Given the description of an element on the screen output the (x, y) to click on. 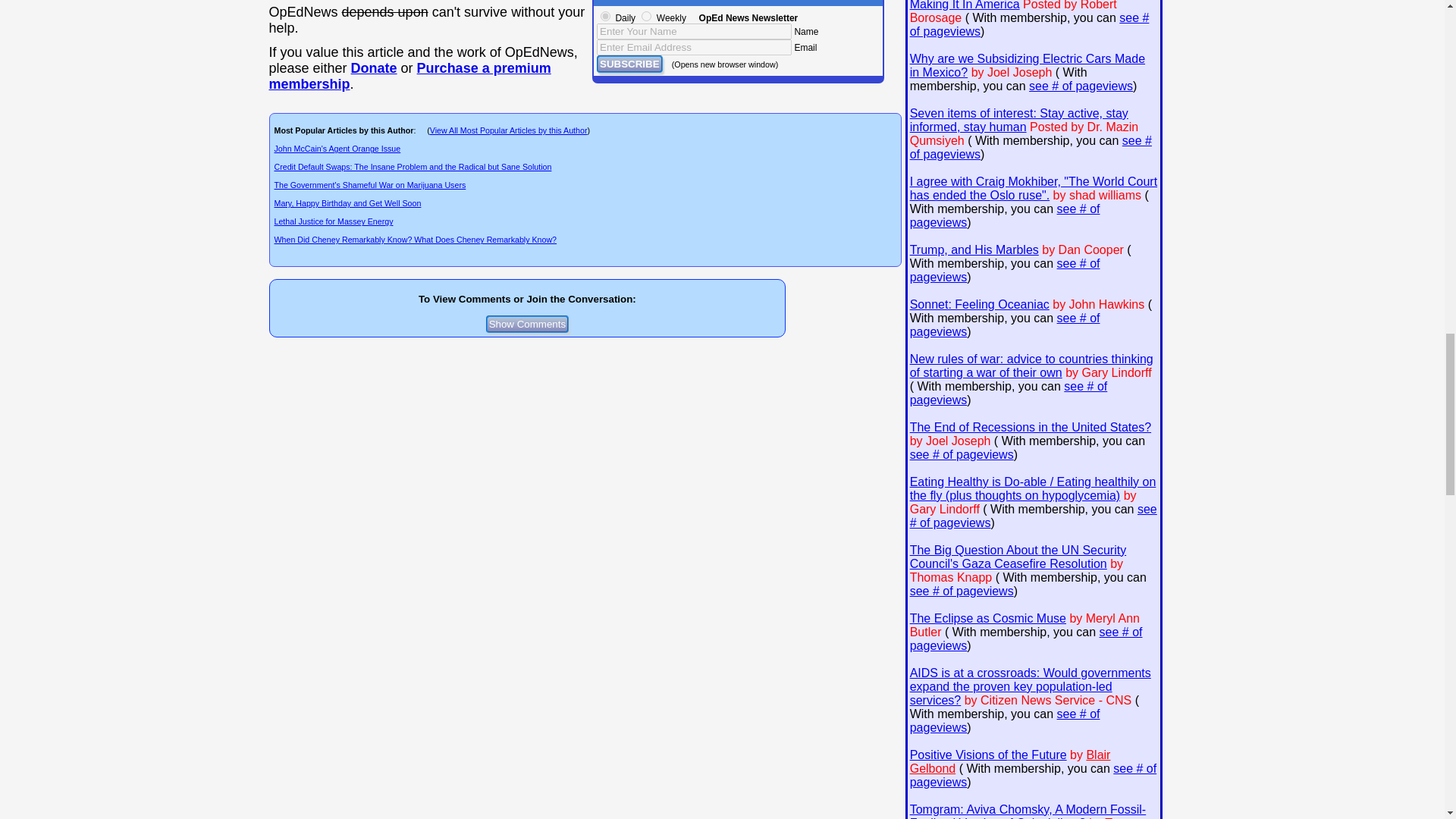
Show Comments (527, 323)
Daily (604, 16)
-- (373, 68)
-- (408, 75)
SUBSCRIBE (629, 63)
Enter Your Name (694, 31)
Weekly (646, 16)
Enter Email Address (694, 47)
